Given the description of an element on the screen output the (x, y) to click on. 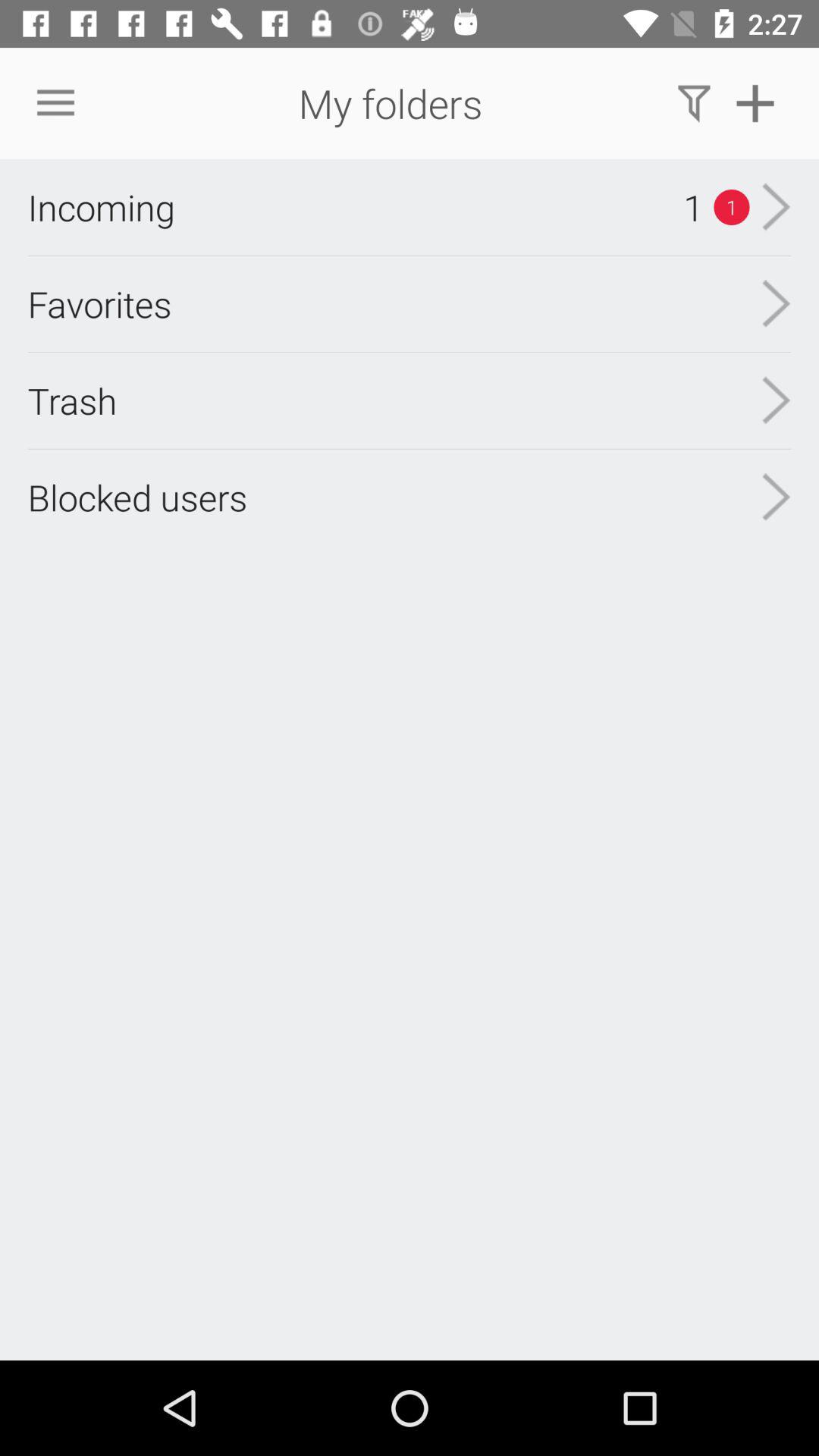
open item next to 1 (101, 207)
